Given the description of an element on the screen output the (x, y) to click on. 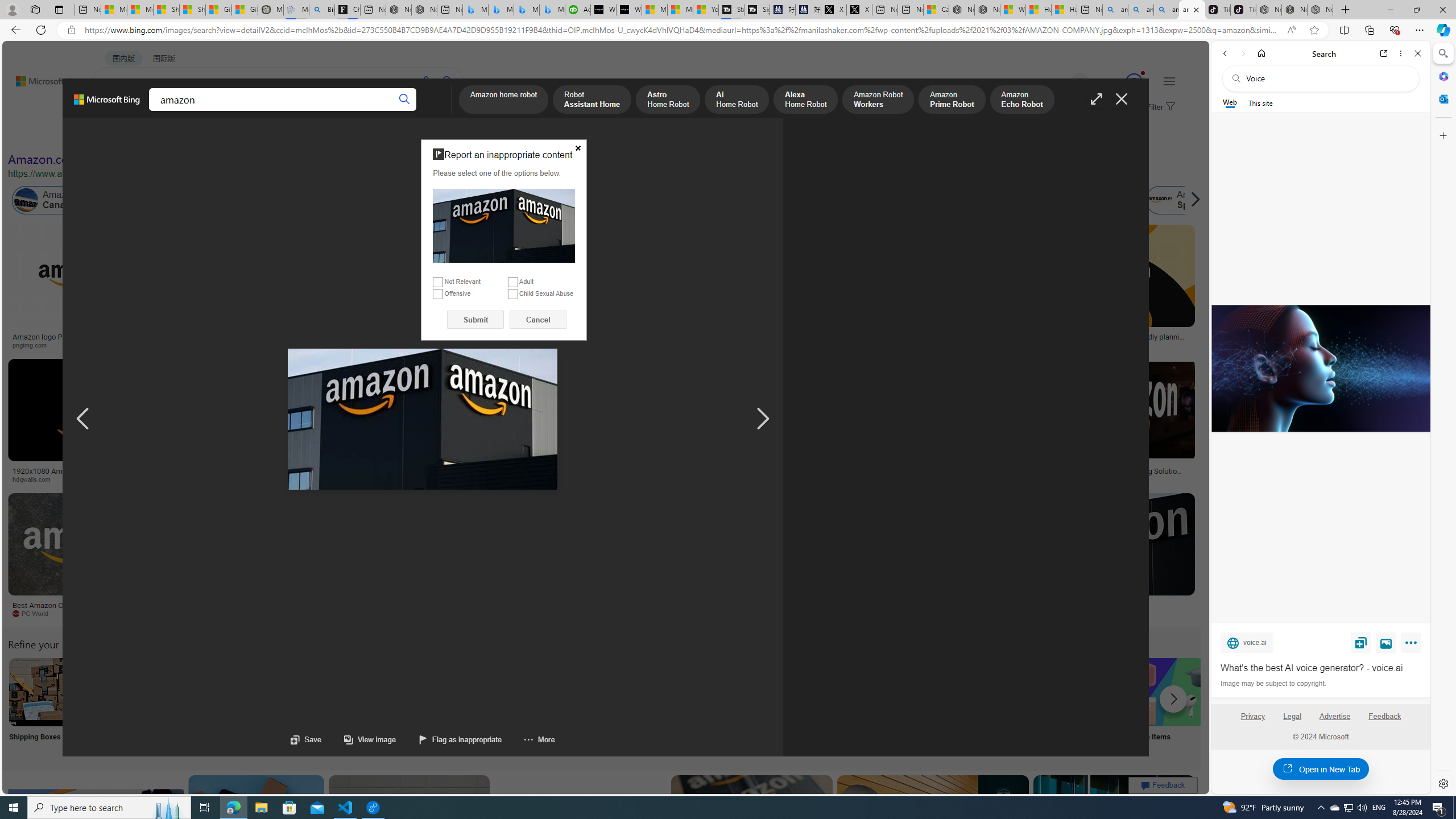
Nordace - Siena Pro 15 Essential Set (1320, 9)
Amazon Mini TV (794, 691)
Clip Art (192, 706)
Amazon Forest (1023, 199)
3d illustration of amazon logo 18779928 PNG (939, 474)
Flag as inappropriate (449, 739)
Full screen (1096, 99)
Scroll more suggestions right (1173, 698)
theverge.com (1068, 344)
Amazon (1105, 605)
thewrap.com (470, 612)
